Given the description of an element on the screen output the (x, y) to click on. 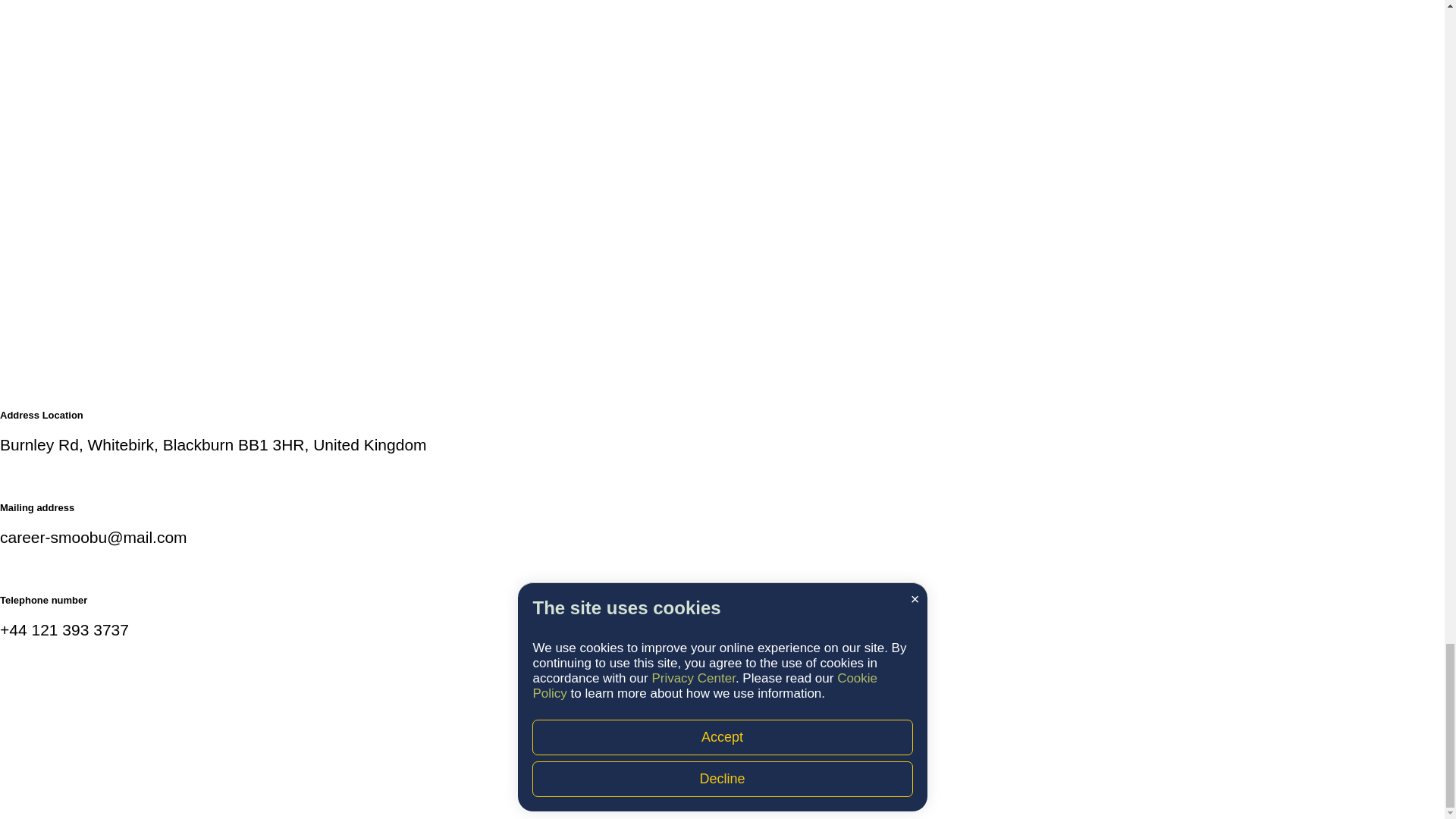
Disclaimer (548, 797)
Privacy policy (887, 797)
